Given the description of an element on the screen output the (x, y) to click on. 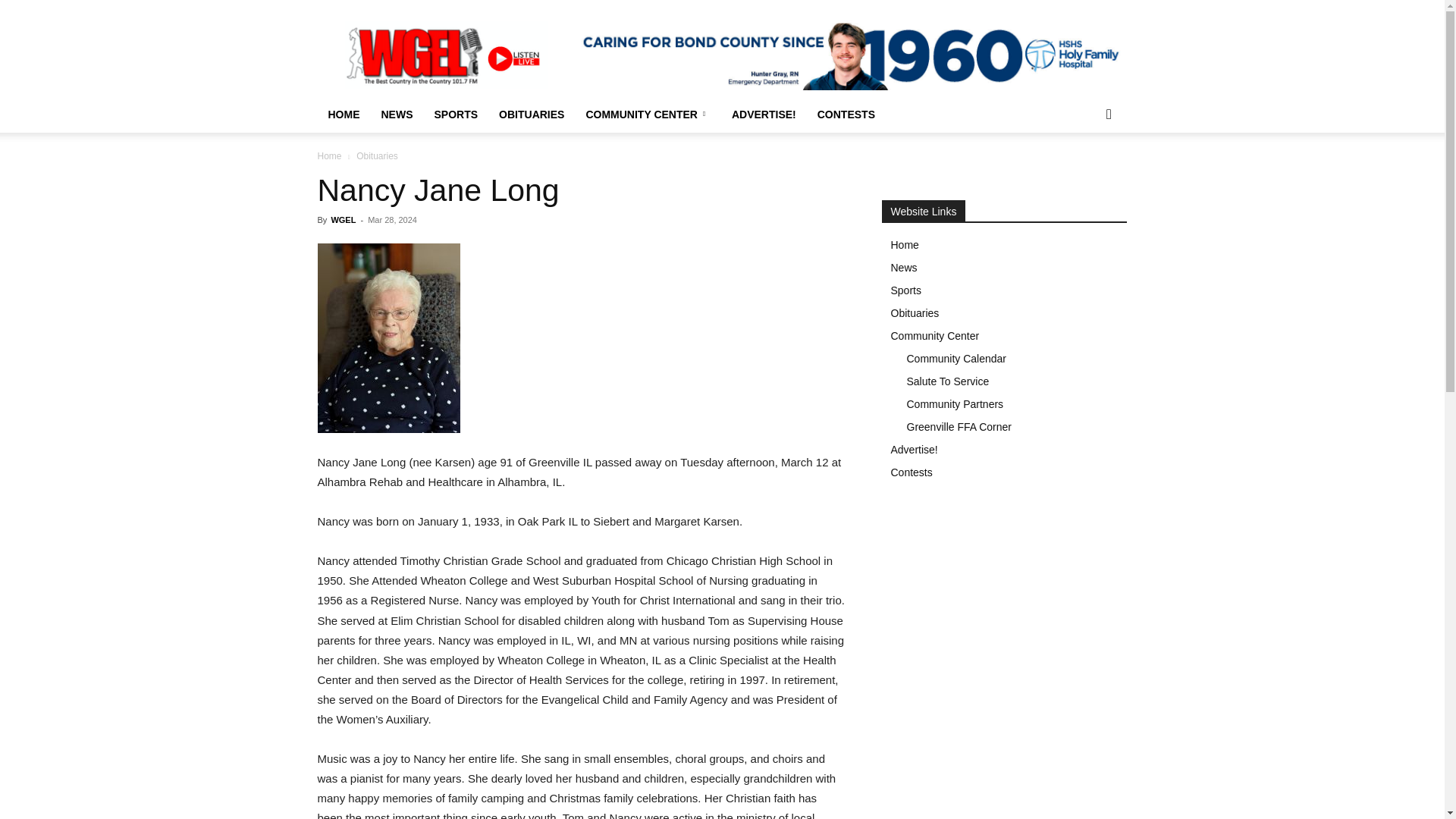
OBITUARIES (531, 114)
CONTESTS (845, 114)
ADVERTISE! (763, 114)
COMMUNITY CENTER (647, 114)
WGEL Logo (446, 55)
WGEL (342, 219)
Search (1085, 174)
Home (328, 155)
HOME (343, 114)
NEWS (396, 114)
SPORTS (455, 114)
